Given the description of an element on the screen output the (x, y) to click on. 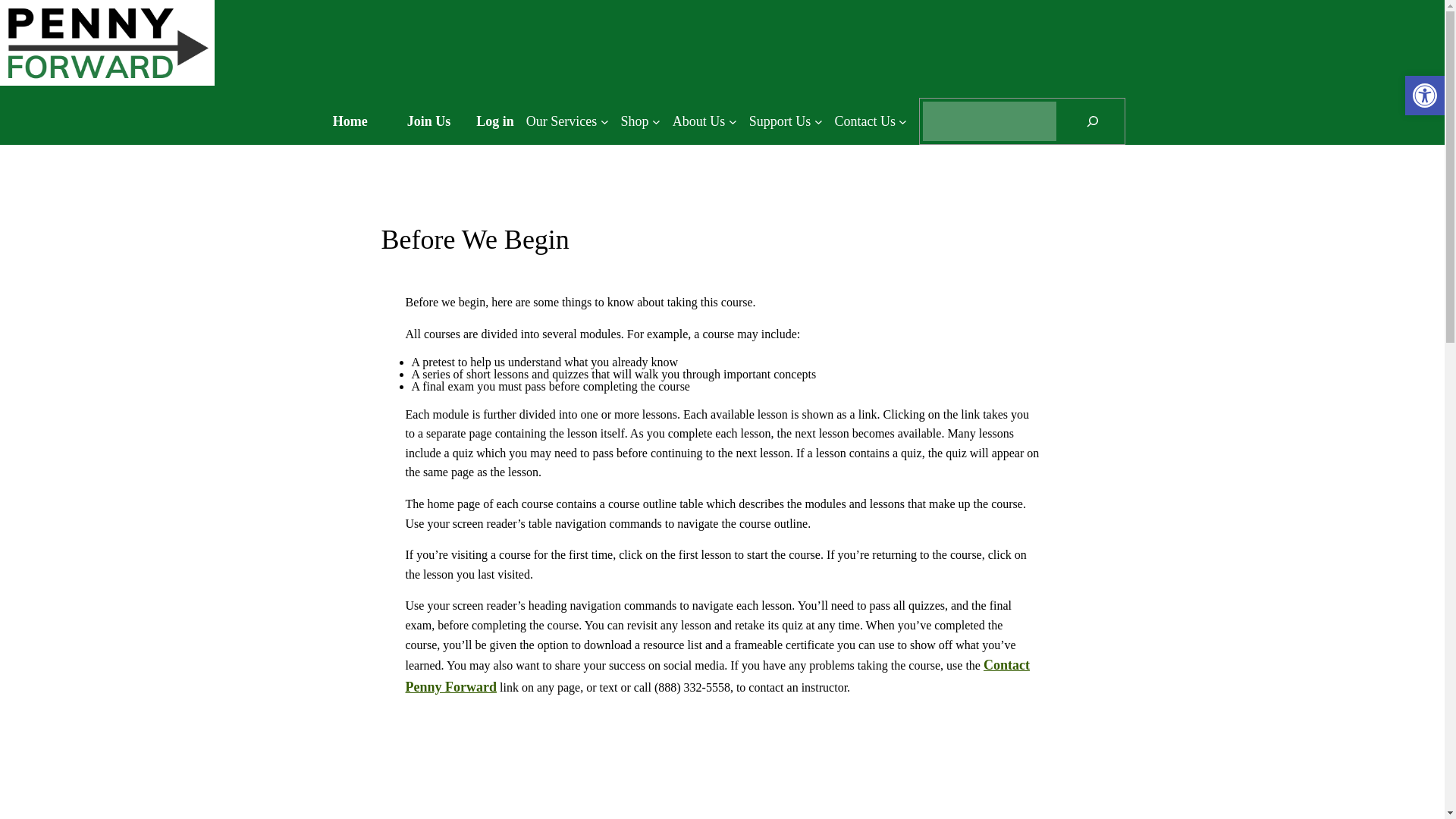
Join Us (428, 121)
Support Us (785, 120)
Log in (494, 120)
About Us (704, 120)
Accessibility Tools (1424, 95)
Home (349, 121)
Contact Us (870, 120)
Our Services (566, 120)
Shop (641, 120)
